Given the description of an element on the screen output the (x, y) to click on. 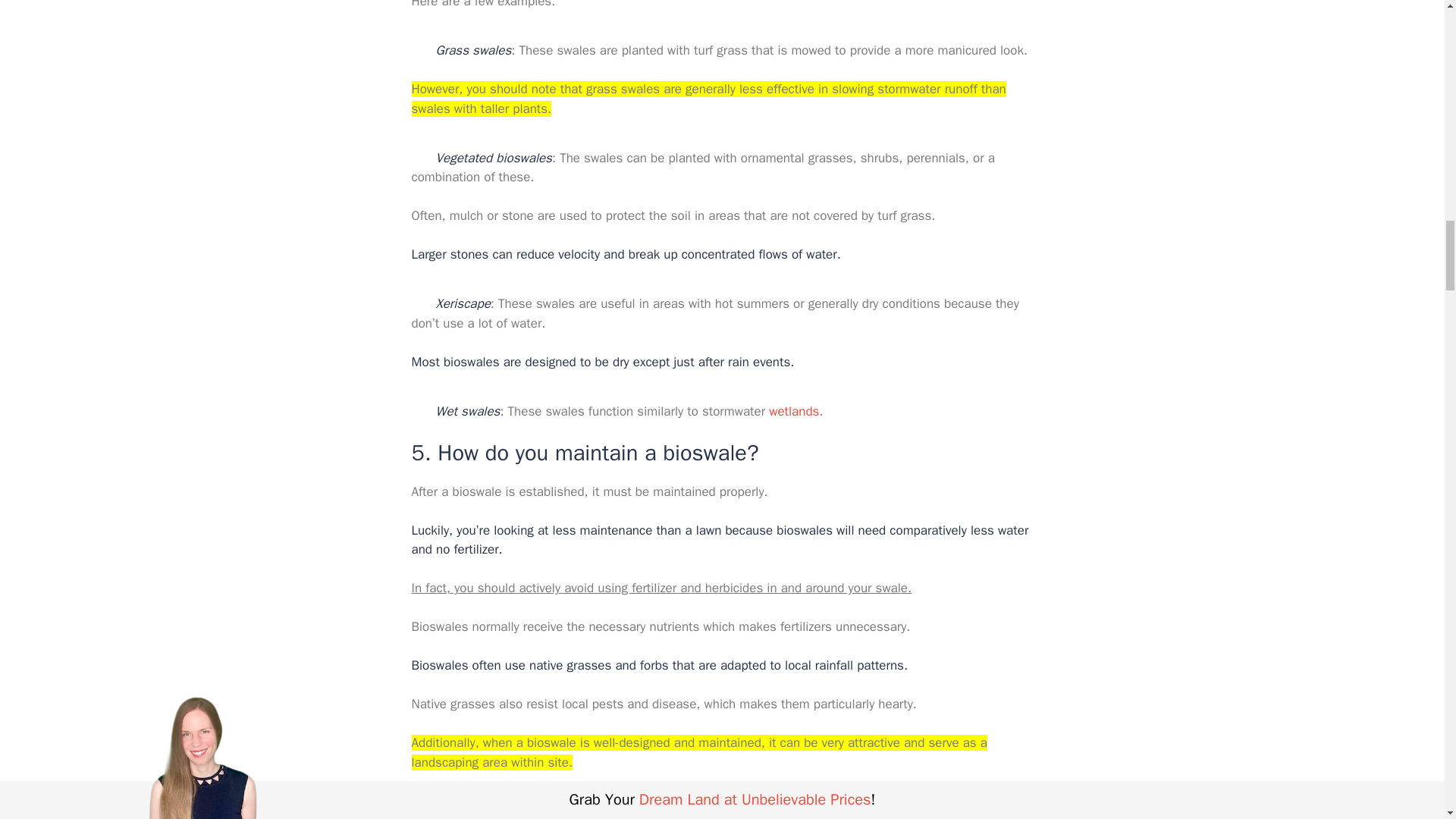
wetlands (793, 411)
